Given the description of an element on the screen output the (x, y) to click on. 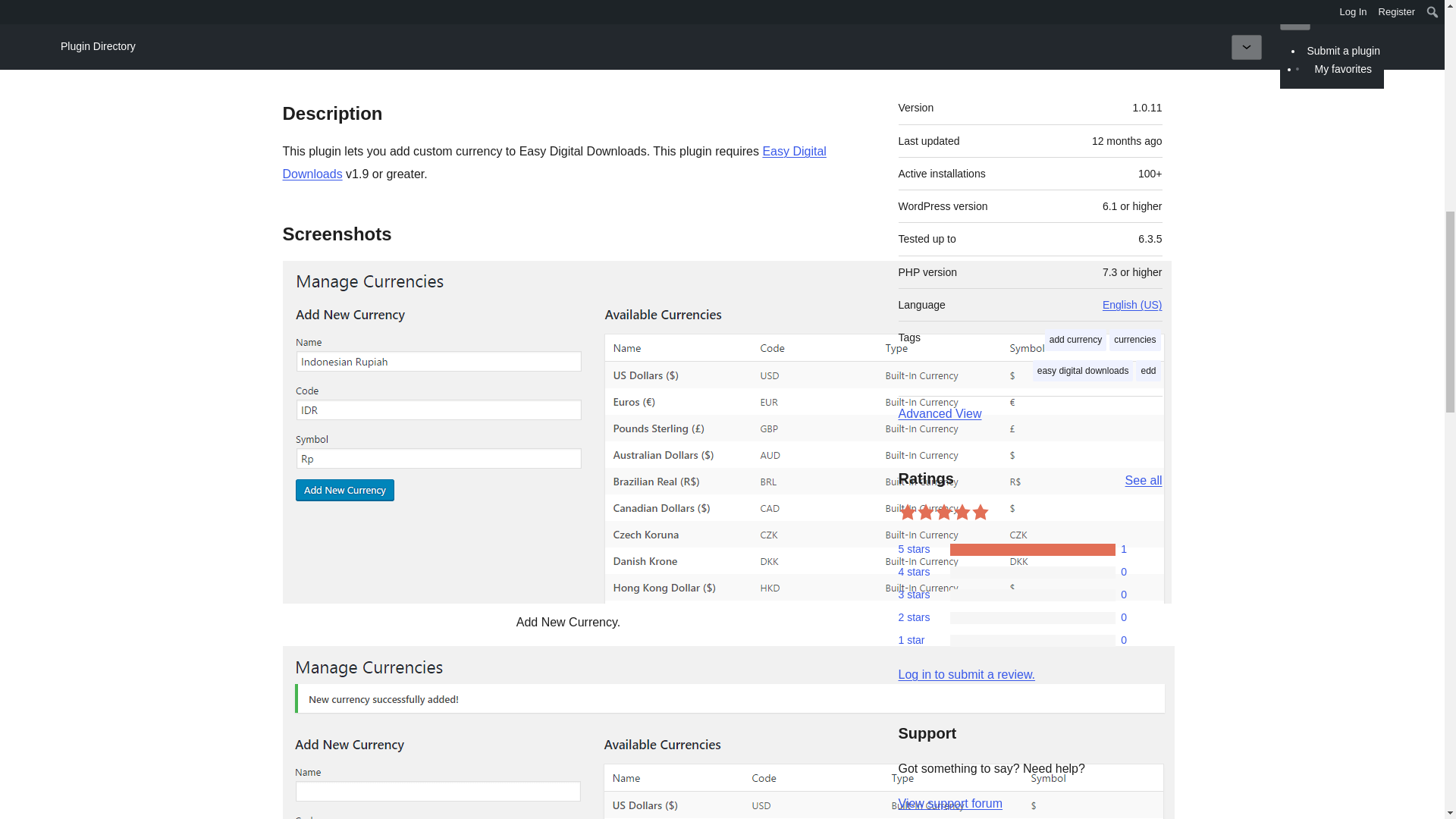
Reviews (392, 45)
Details (316, 45)
Support (1132, 45)
Installation (480, 45)
Easy Digital Downloads (553, 162)
Development (580, 45)
Log in to WordPress.org (966, 674)
